Given the description of an element on the screen output the (x, y) to click on. 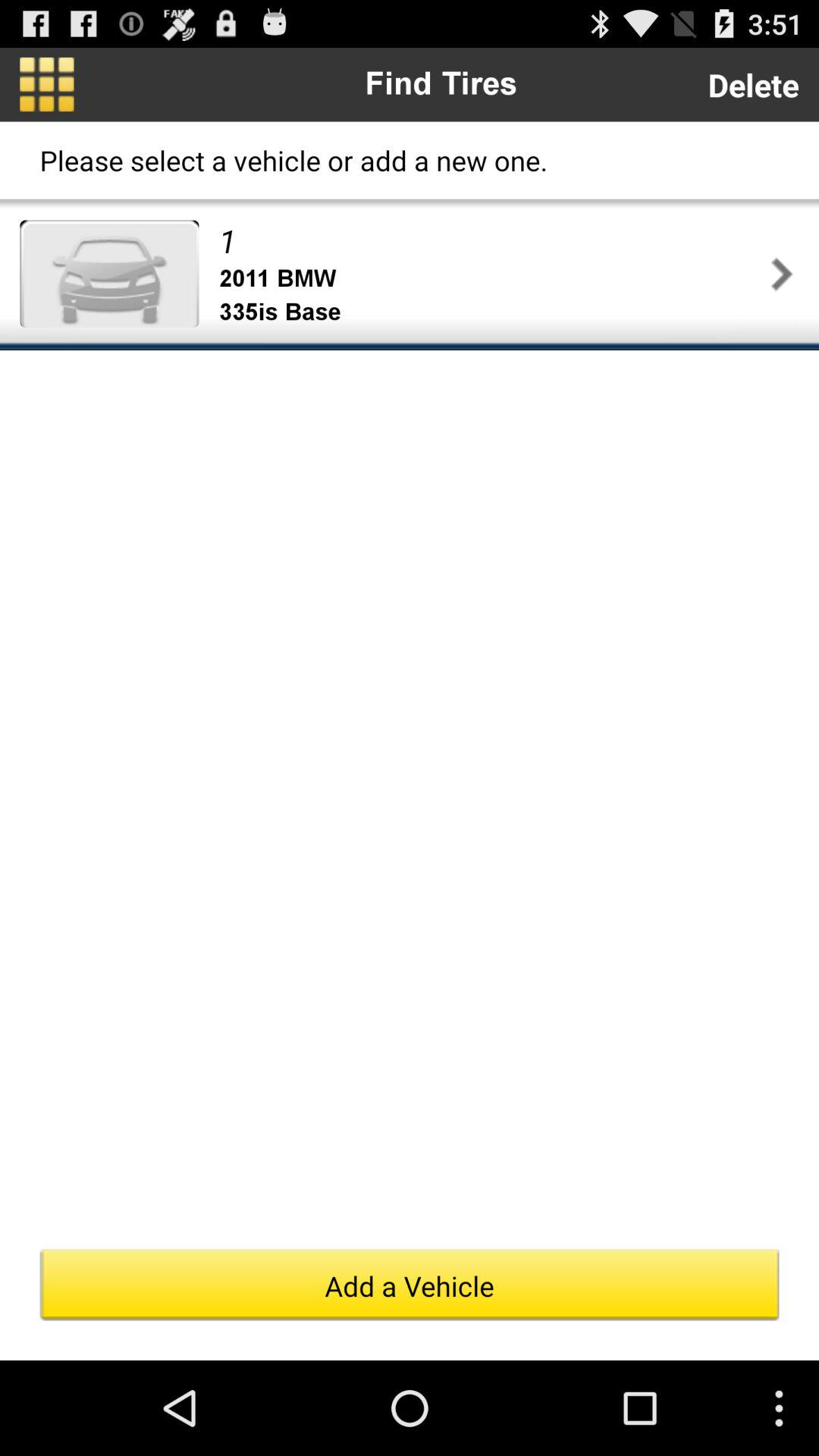
click item above the add a vehicle button (109, 273)
